Given the description of an element on the screen output the (x, y) to click on. 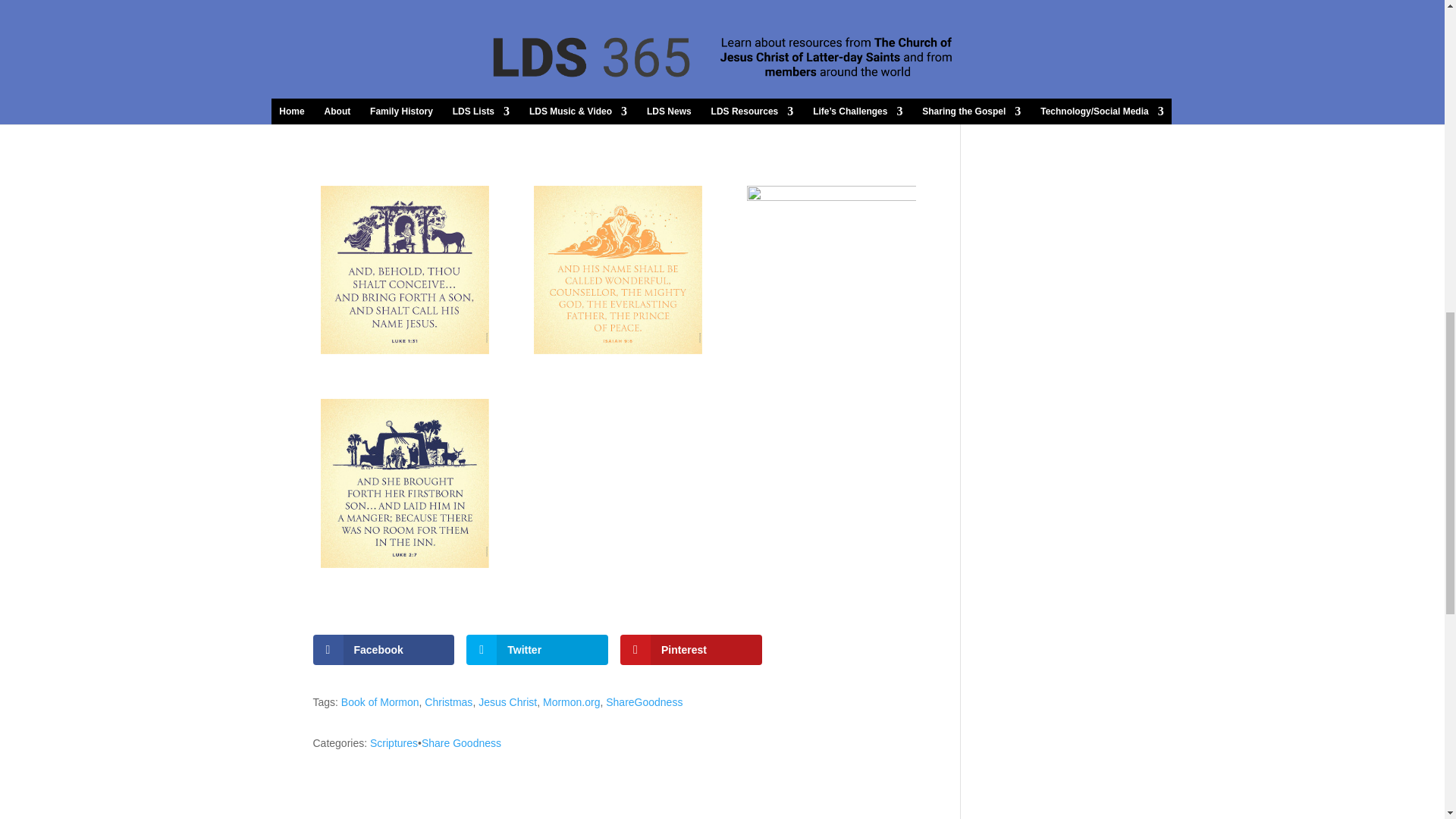
Christmas-card-3 (618, 269)
Christmas-card-4 (404, 269)
Christmas-card-5 (830, 70)
Christmas-card-7 (404, 70)
Christmas-card-6 (618, 70)
